Given the description of an element on the screen output the (x, y) to click on. 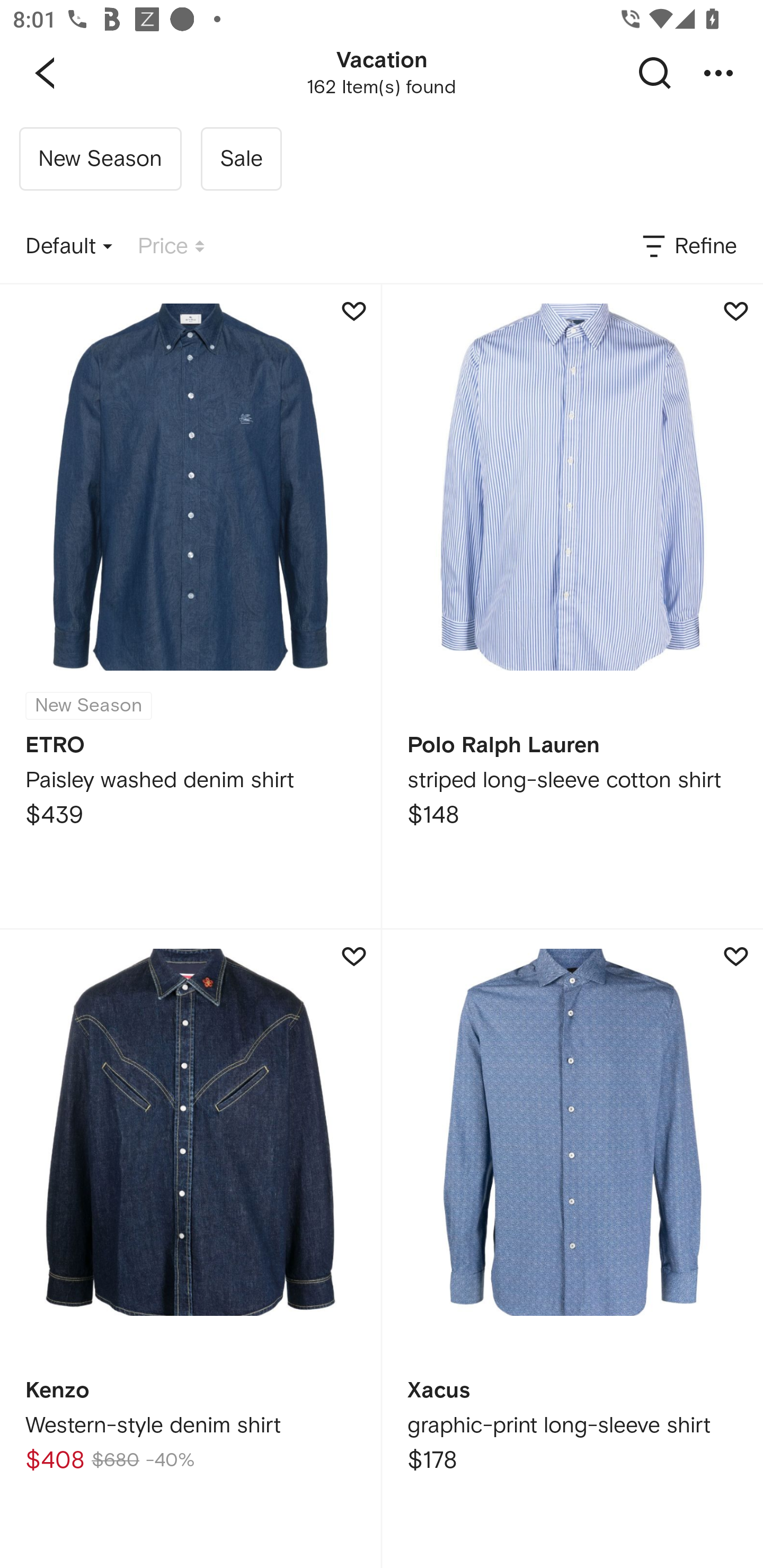
New Season (100, 158)
Sale (240, 158)
Default (68, 246)
Price (171, 246)
Refine (688, 246)
New Season ETRO Paisley washed denim shirt $439 (190, 605)
Kenzo Western-style denim shirt $408 $680 -40% (190, 1248)
Xacus graphic-print long-sleeve shirt $178 (572, 1248)
